Given the description of an element on the screen output the (x, y) to click on. 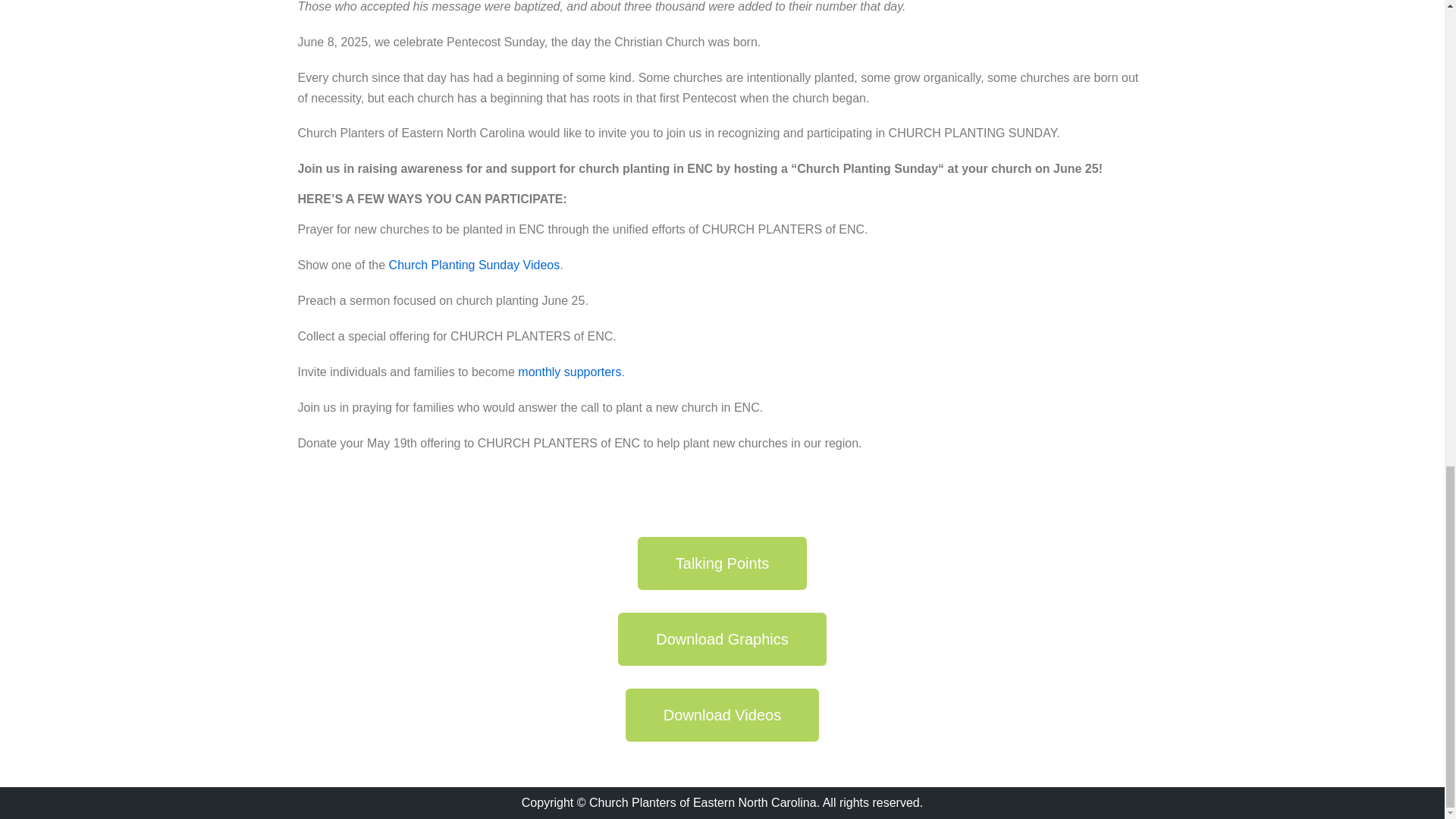
Church Planting Sunday Videos (474, 264)
Download Videos (722, 715)
Download Graphics (722, 638)
monthly supporters (569, 371)
Talking Points (721, 563)
